Given the description of an element on the screen output the (x, y) to click on. 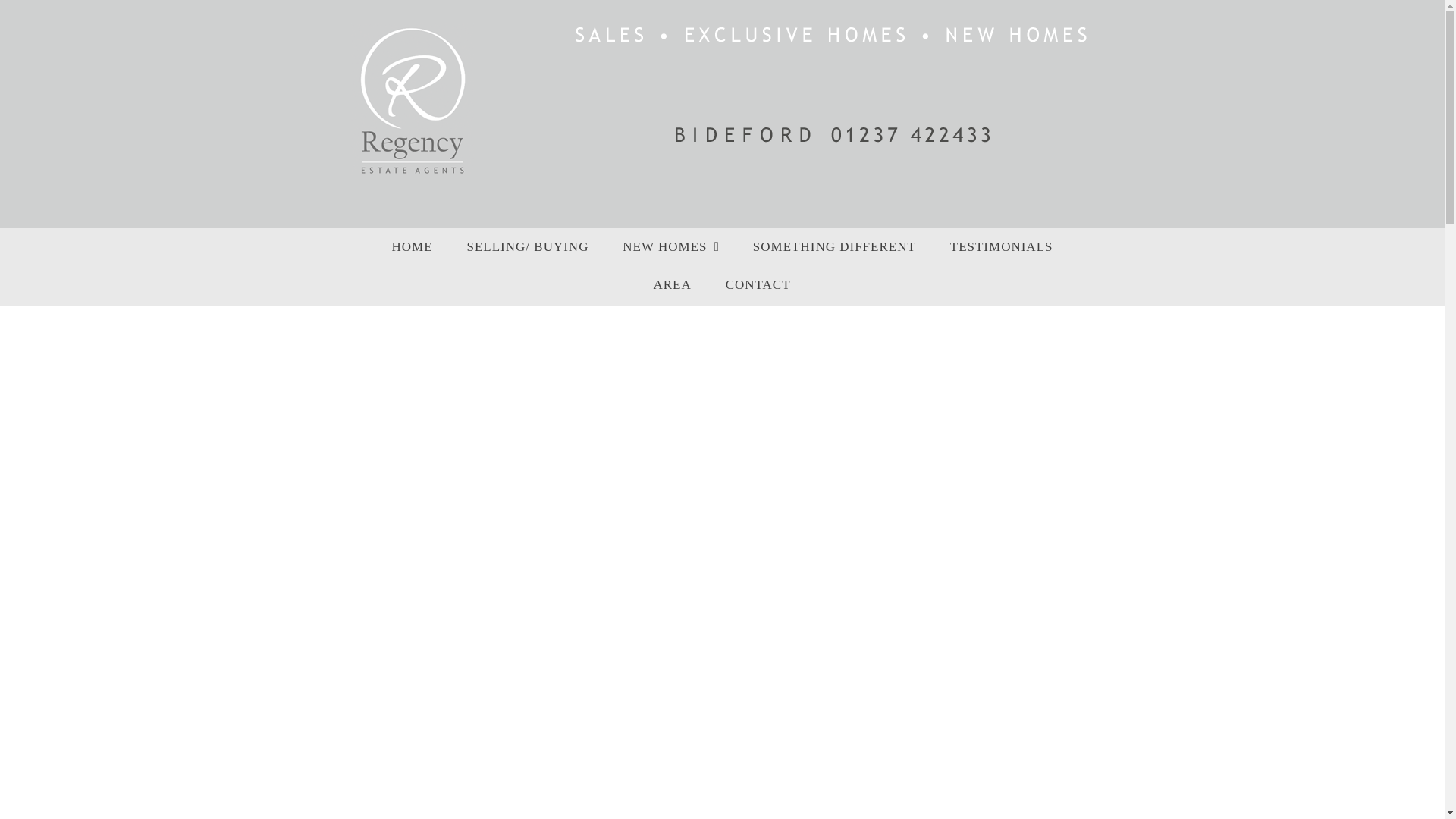
TESTIMONIALS (1001, 247)
CONTACT (758, 285)
NEW HOMES (670, 247)
HOME (412, 247)
AREA (671, 285)
SOMETHING DIFFERENT (834, 247)
devon-estate-agents-bideford-regency (833, 98)
